Given the description of an element on the screen output the (x, y) to click on. 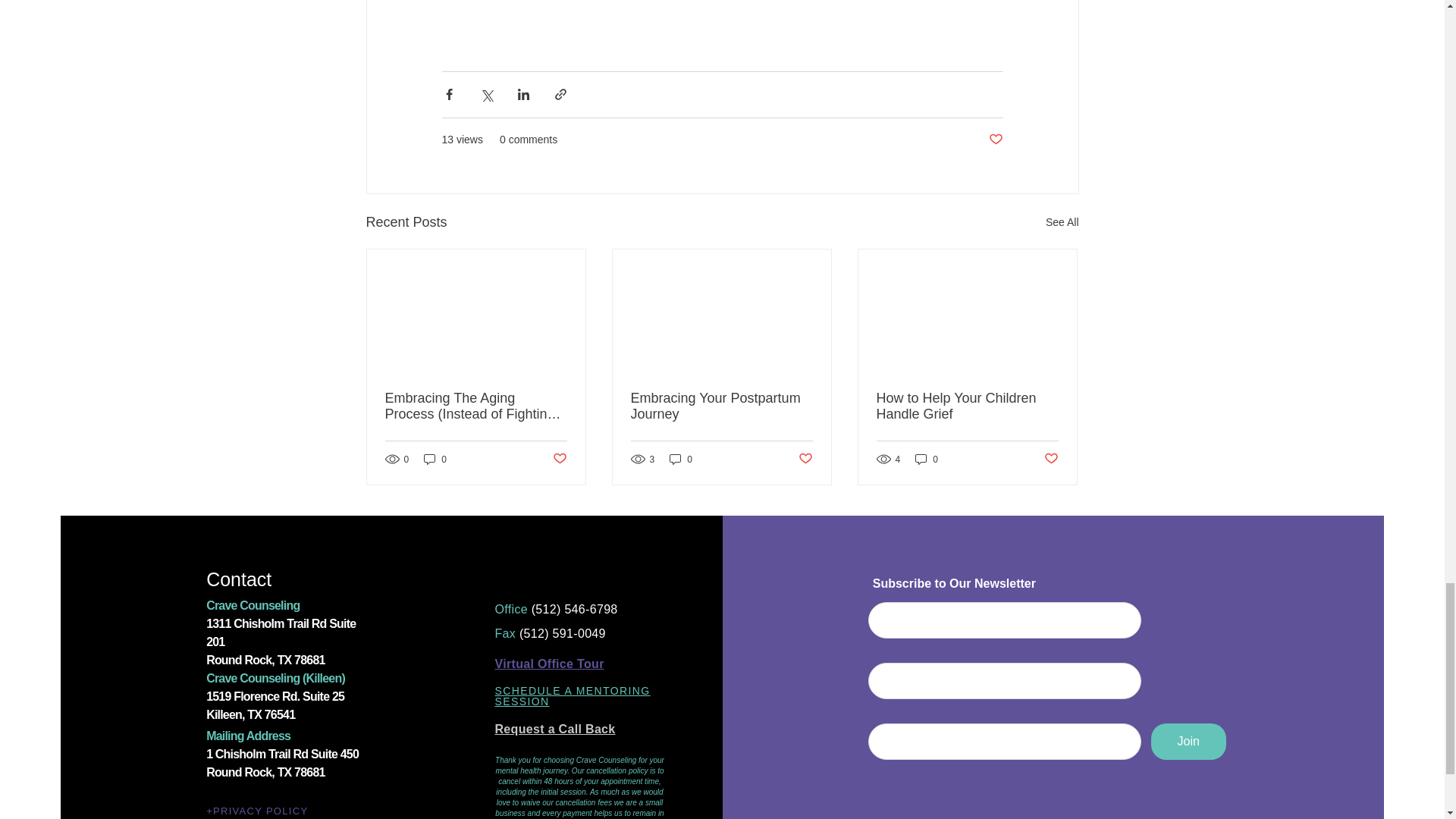
Post not marked as liked (995, 139)
See All (1061, 222)
0 (435, 459)
Post not marked as liked (558, 458)
